Given the description of an element on the screen output the (x, y) to click on. 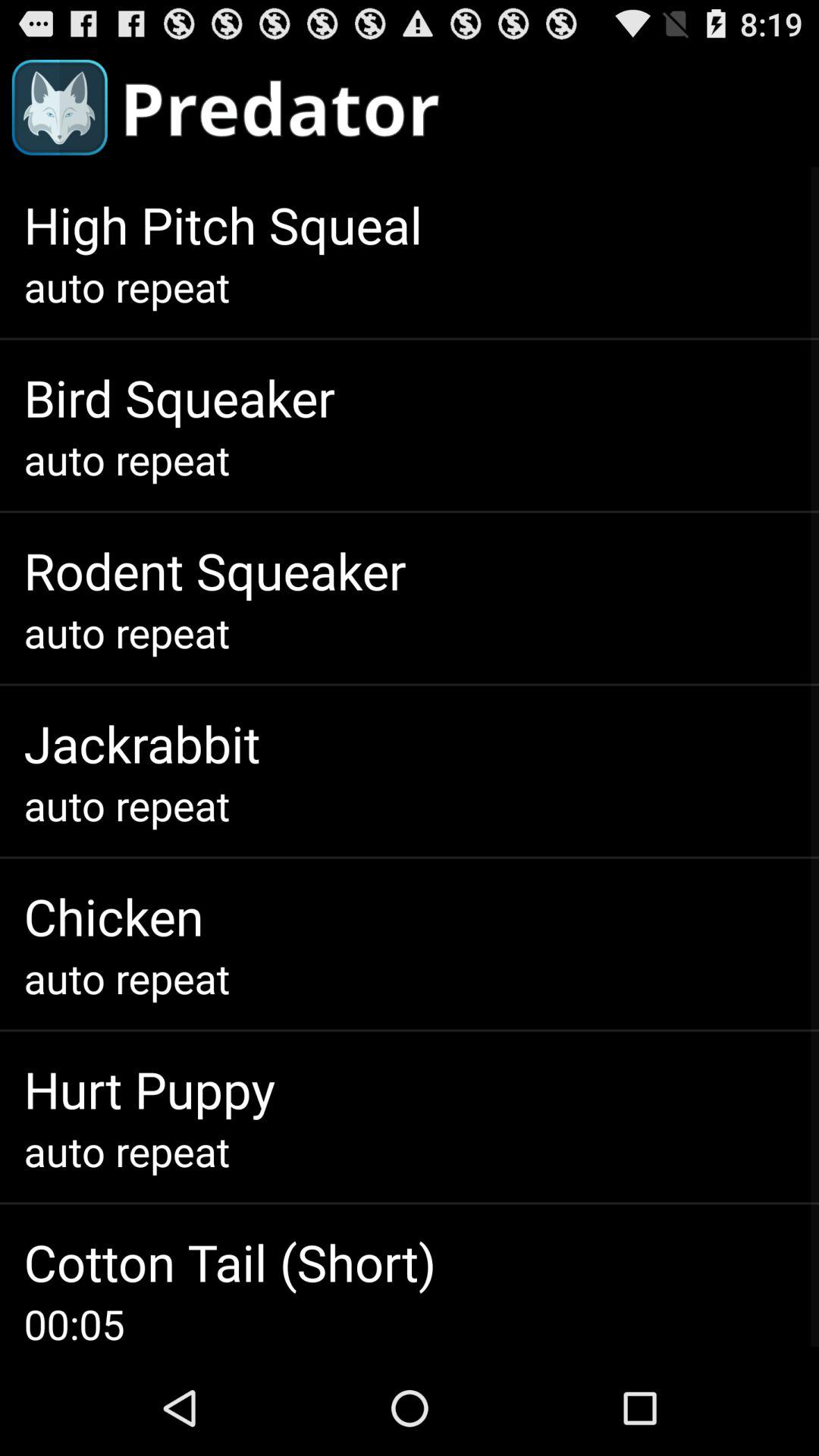
turn off chicken (113, 916)
